Given the description of an element on the screen output the (x, y) to click on. 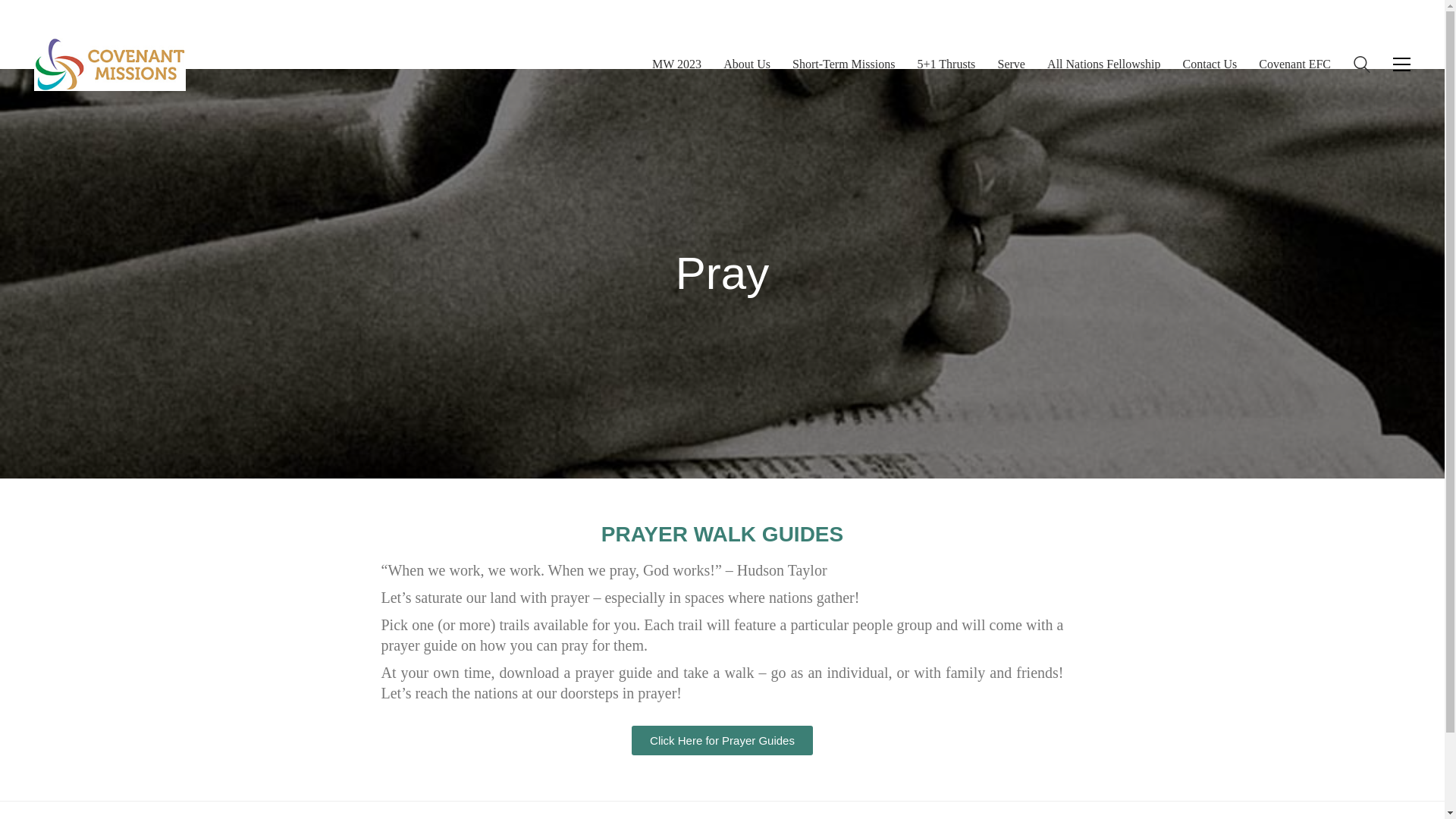
Covenant EFC (1294, 64)
Contact Us (1209, 64)
Serve (1011, 64)
Click Here for Prayer Guides (721, 740)
Short-Term Missions (843, 64)
About Us (746, 64)
MW 2023 (676, 64)
All Nations Fellowship (1103, 64)
